Given the description of an element on the screen output the (x, y) to click on. 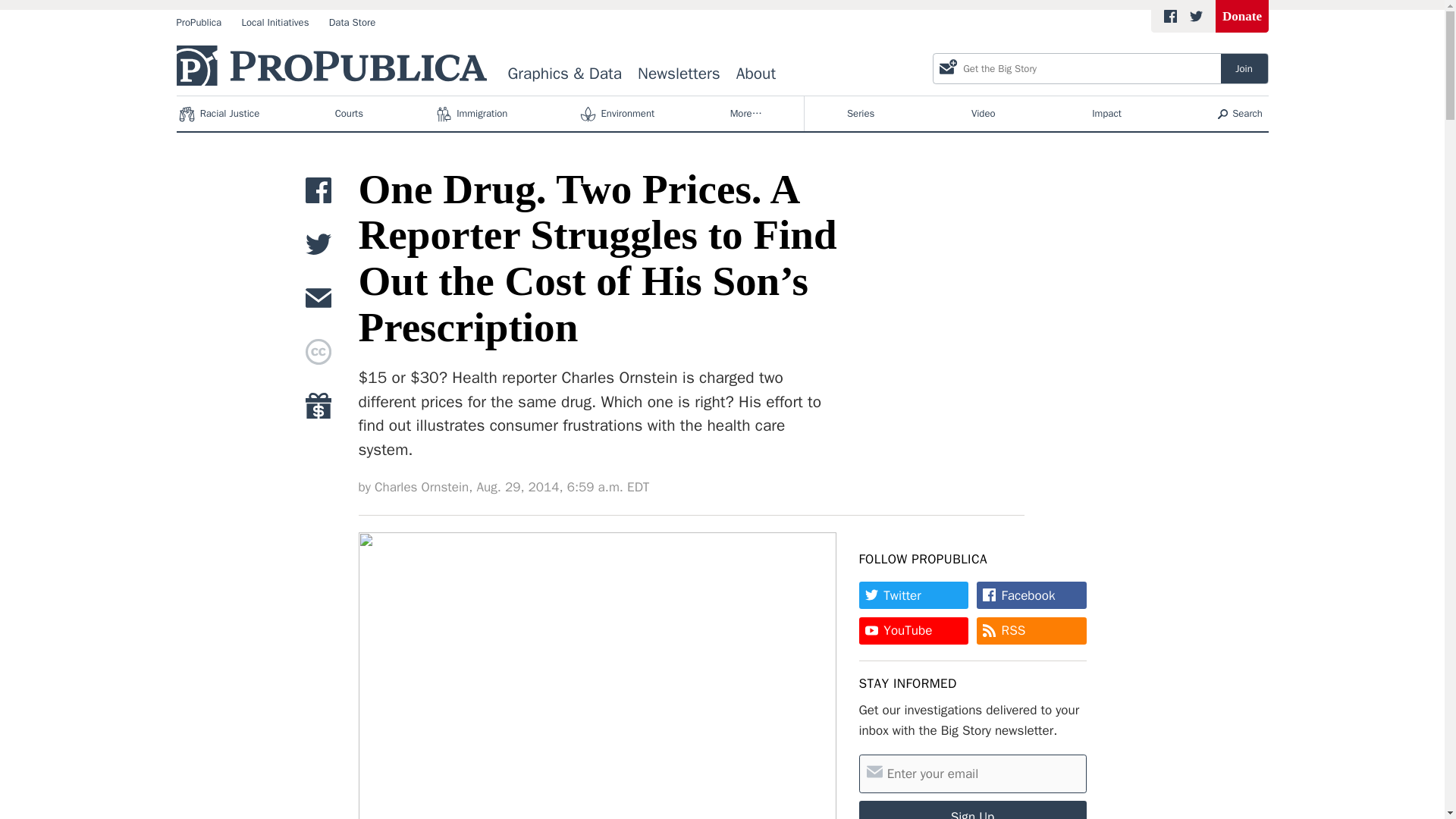
Newsletters (679, 74)
Sign Up (972, 809)
ProPublica (198, 22)
Local Initiatives (274, 22)
Rich Site Summary (1013, 630)
Charles Ornstein (421, 487)
Environment (617, 113)
Courts (349, 113)
Video (983, 113)
Join (1244, 68)
